Given the description of an element on the screen output the (x, y) to click on. 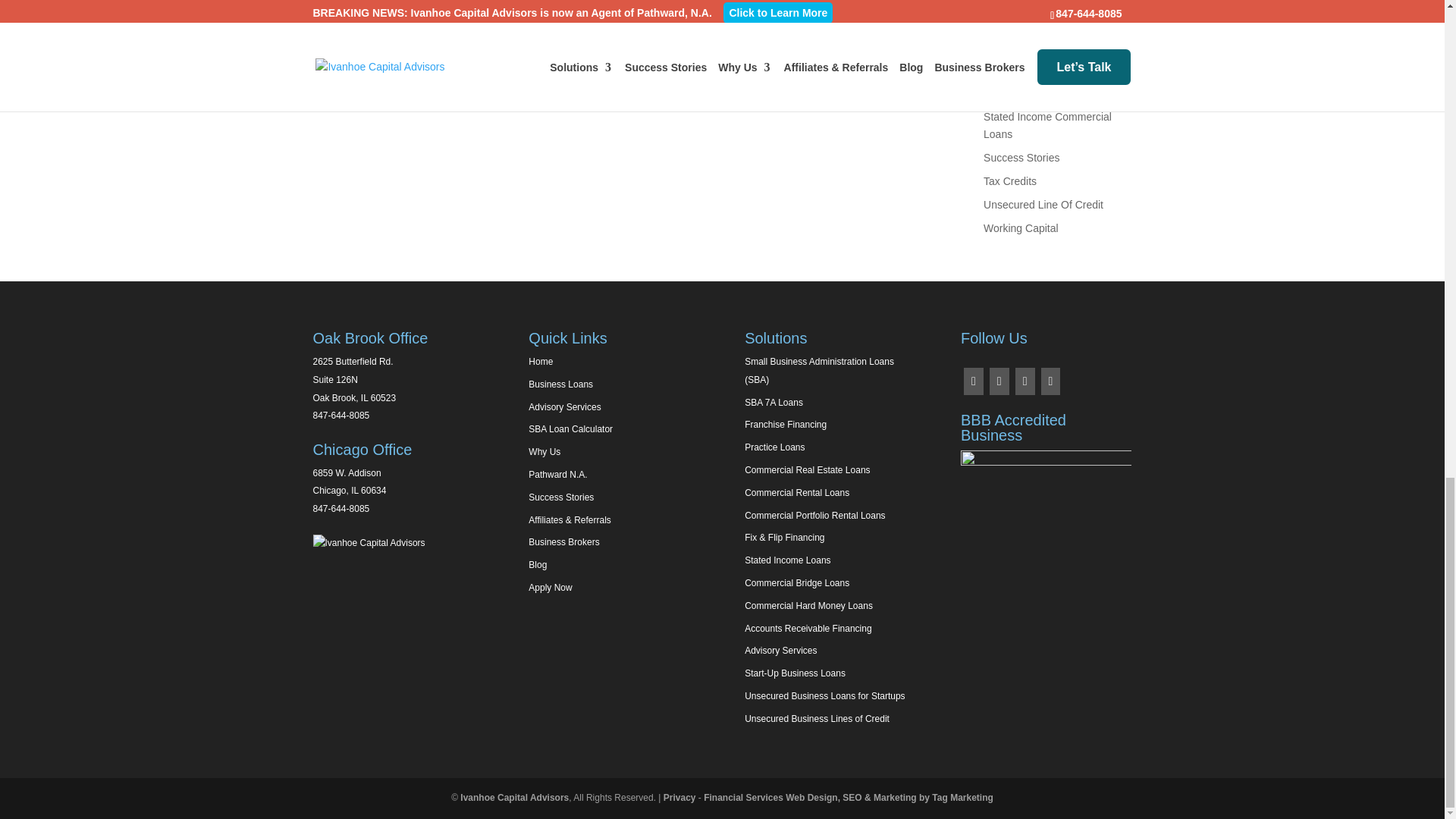
BBB Accredited Business (1045, 482)
